Given the description of an element on the screen output the (x, y) to click on. 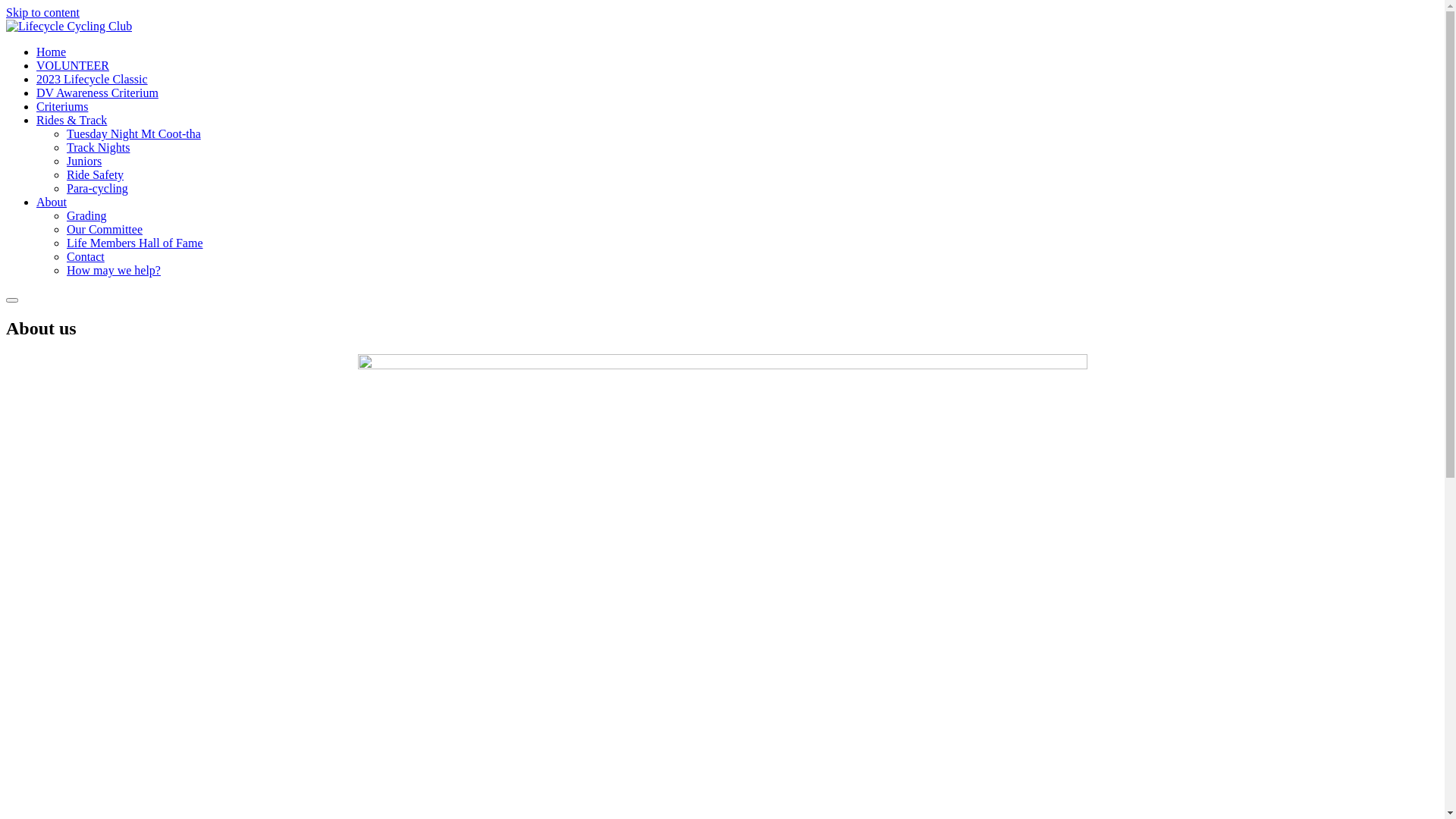
Home Element type: text (50, 51)
Tuesday Night Mt Coot-tha Element type: text (133, 133)
Skip to content Element type: text (42, 12)
VOLUNTEER Element type: text (72, 65)
DV Awareness Criterium Element type: text (97, 92)
Rides & Track Element type: text (71, 119)
Ride Safety Element type: text (94, 174)
Grading Element type: text (86, 215)
Life Members Hall of Fame Element type: text (134, 242)
About Element type: text (51, 201)
Track Nights Element type: text (97, 147)
Juniors Element type: text (83, 160)
Our Committee Element type: text (104, 228)
Contact Element type: text (85, 256)
2023 Lifecycle Classic Element type: text (91, 78)
Para-cycling Element type: text (97, 188)
Criteriums Element type: text (61, 106)
How may we help? Element type: text (113, 269)
